Given the description of an element on the screen output the (x, y) to click on. 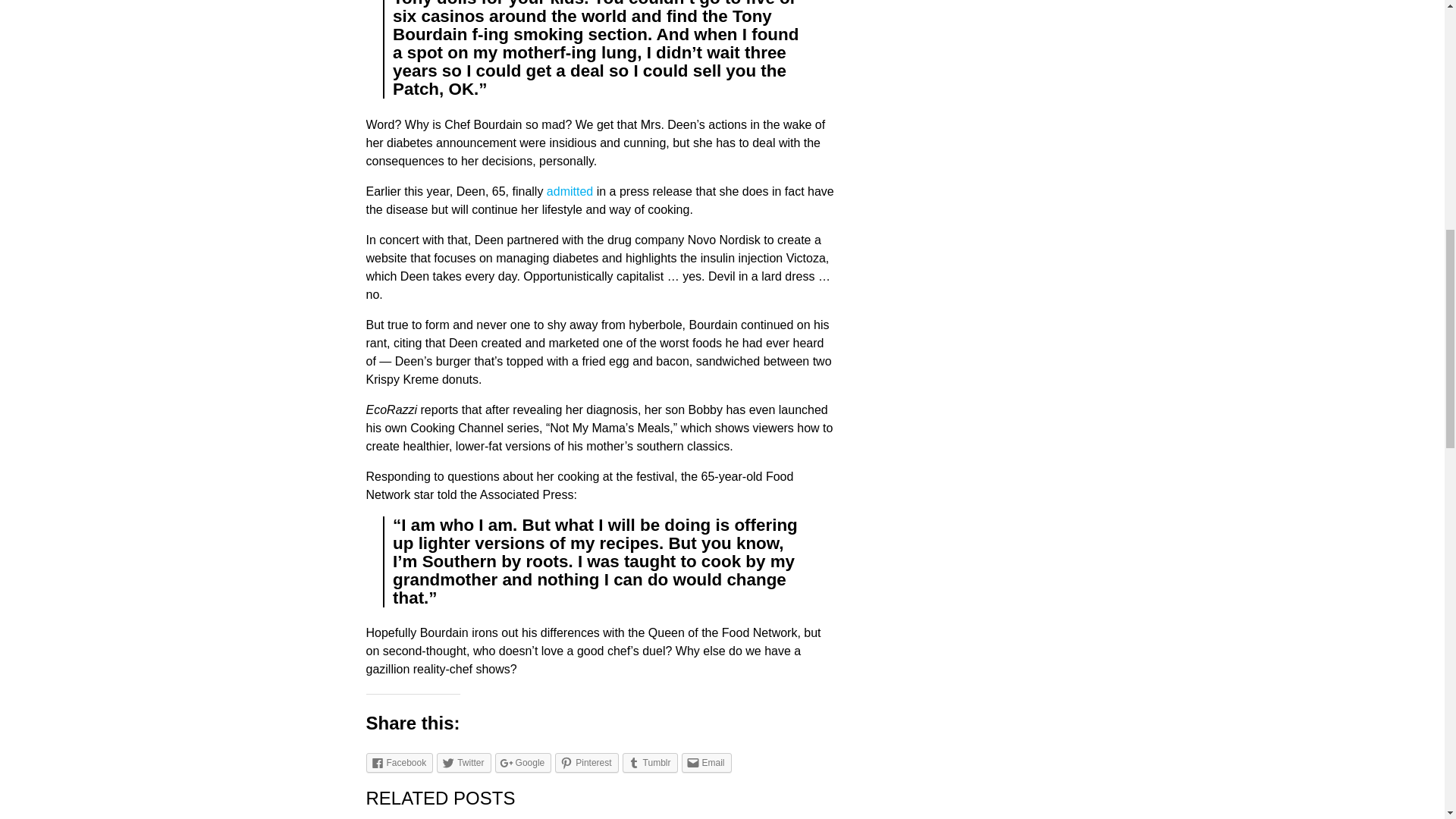
Email (705, 762)
Pinterest (585, 762)
Click to share on Facebook (398, 762)
Google (523, 762)
Click to share on Twitter (463, 762)
Twitter (463, 762)
Click to share on Pinterest (585, 762)
Tumblr (650, 762)
Facebook (398, 762)
admitted (569, 191)
